Given the description of an element on the screen output the (x, y) to click on. 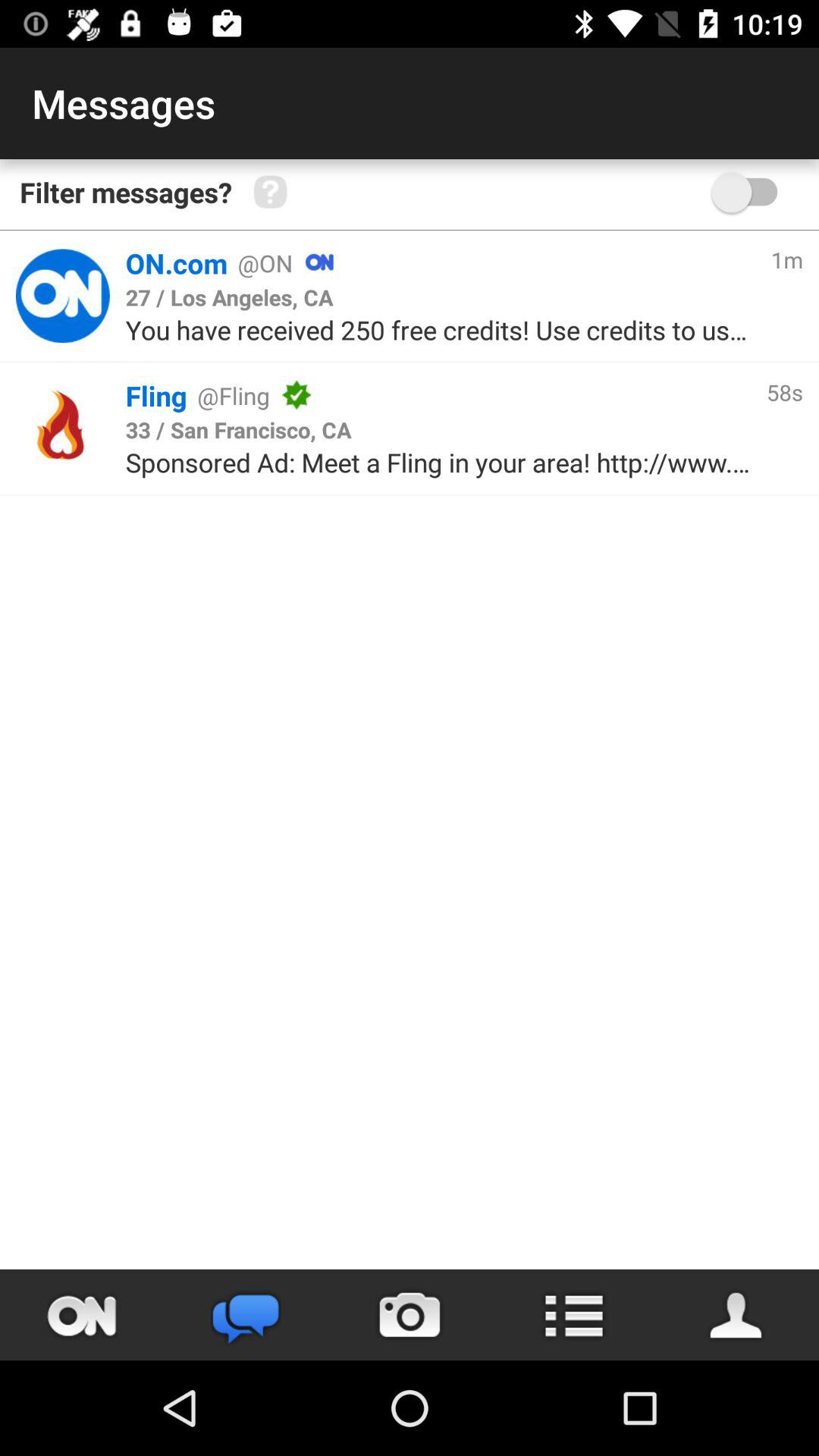
take picture (409, 1315)
